Given the description of an element on the screen output the (x, y) to click on. 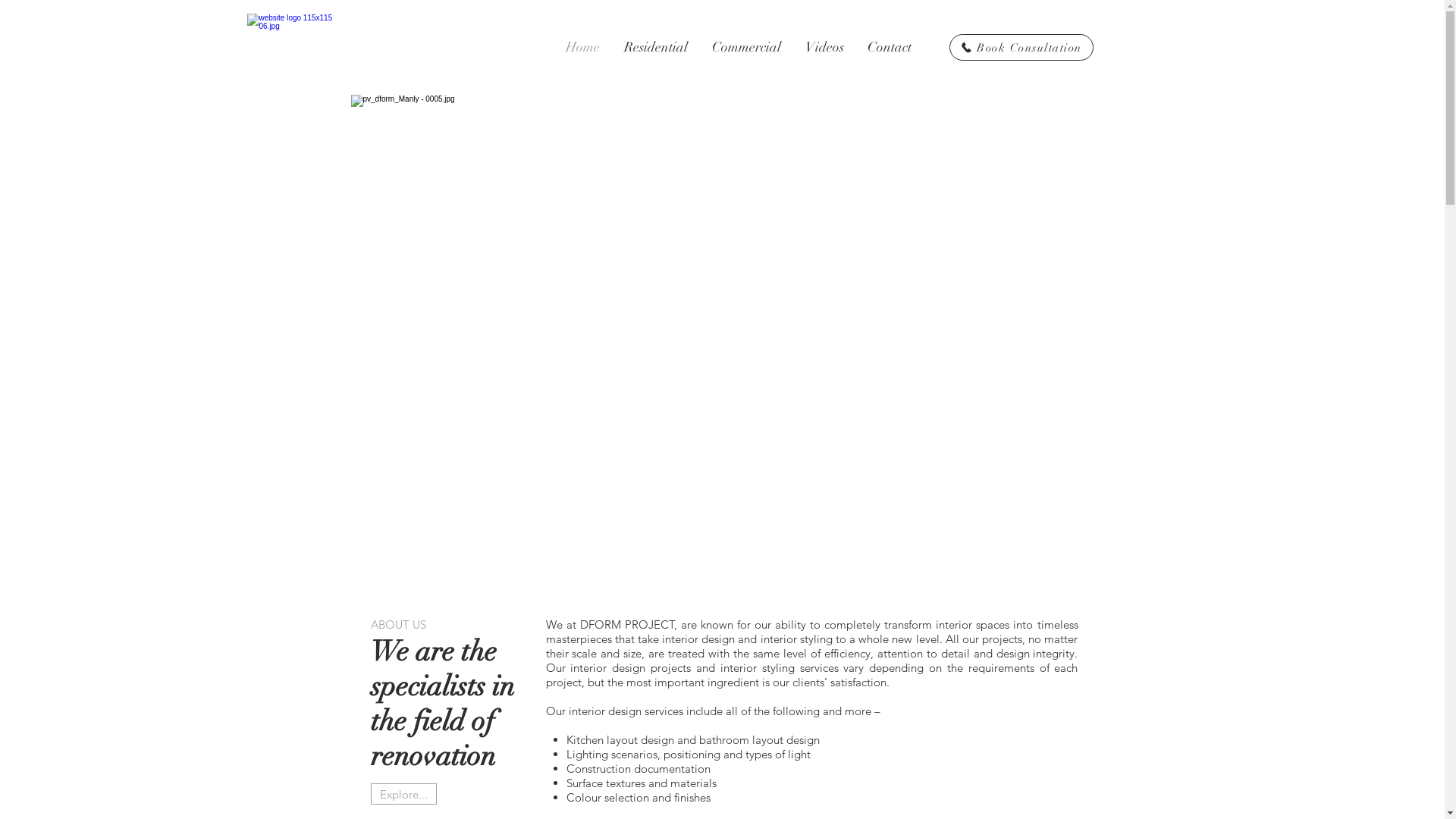
Residential Element type: text (655, 46)
Contact Element type: text (888, 46)
We are the specialists in the field of renovation Element type: text (442, 703)
Videos Element type: text (824, 46)
Book Consultation Element type: text (1021, 47)
Home Element type: text (582, 46)
Commercial Element type: text (745, 46)
Explore... Element type: text (403, 793)
